Given the description of an element on the screen output the (x, y) to click on. 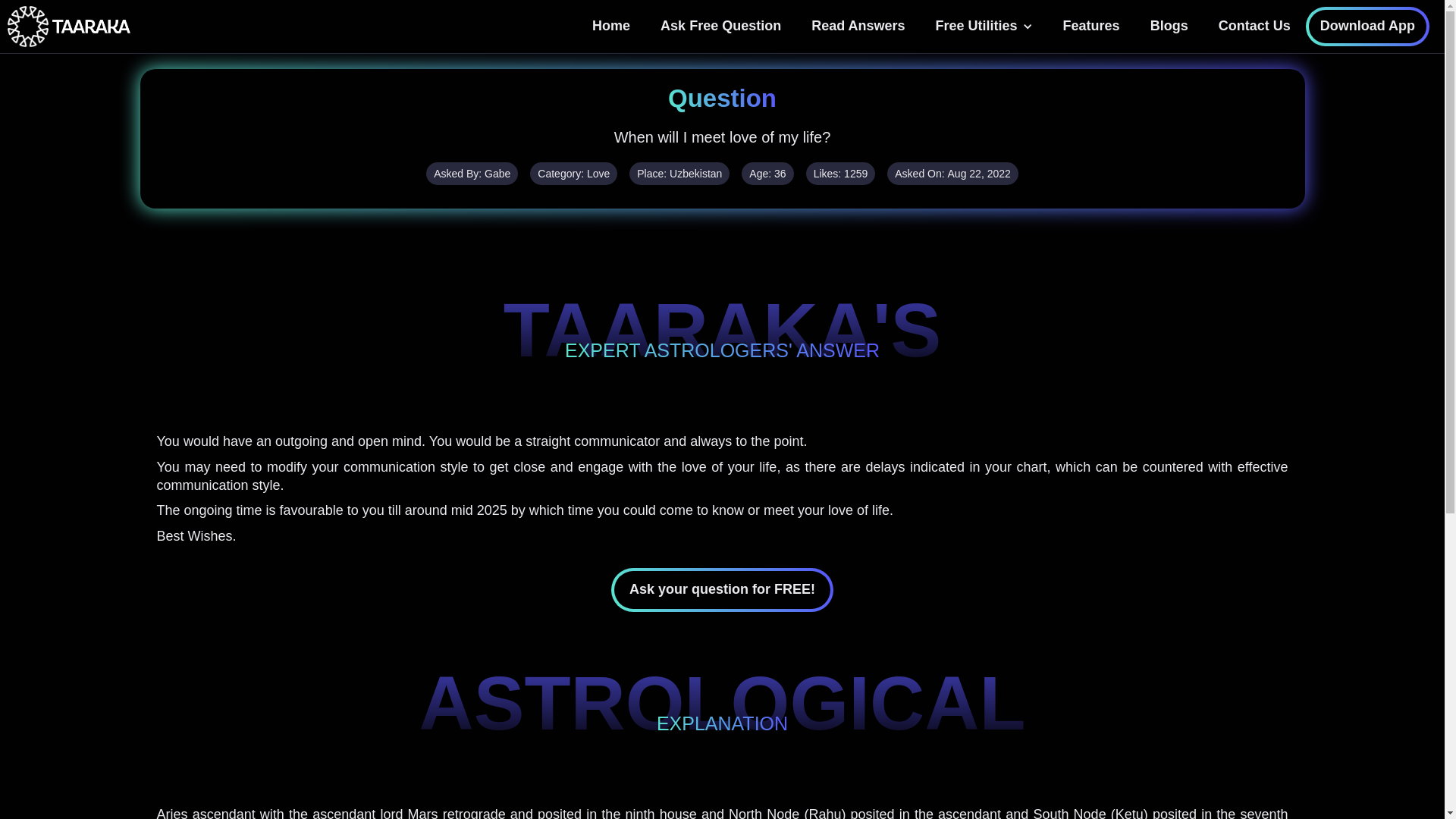
Features (1091, 25)
Contact Us (1255, 25)
Blogs (1169, 25)
Home (610, 25)
Read Answers (858, 25)
Ask your question for FREE! (721, 589)
Download App (1367, 25)
Ask Free Question (720, 25)
